Given the description of an element on the screen output the (x, y) to click on. 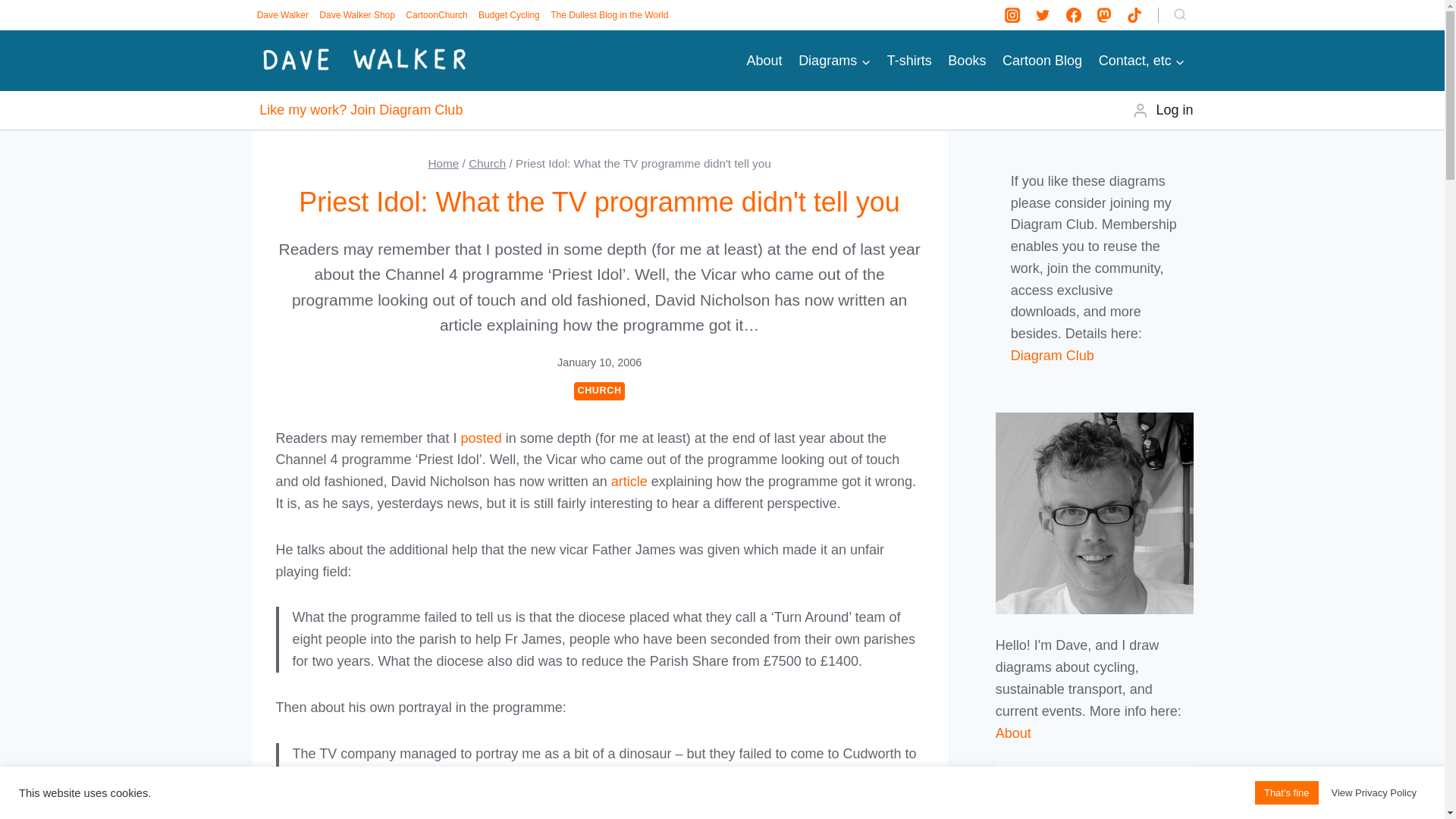
Dave Walker Shop (357, 14)
Contact, etc (1141, 60)
About (764, 60)
CartoonChurch (436, 14)
T-shirts (909, 60)
Budget Cycling (508, 14)
Books (967, 60)
Cartoon Blog (1042, 60)
The Dullest Blog in the World (609, 14)
Dave Walker (282, 14)
Diagrams (834, 60)
